Given the description of an element on the screen output the (x, y) to click on. 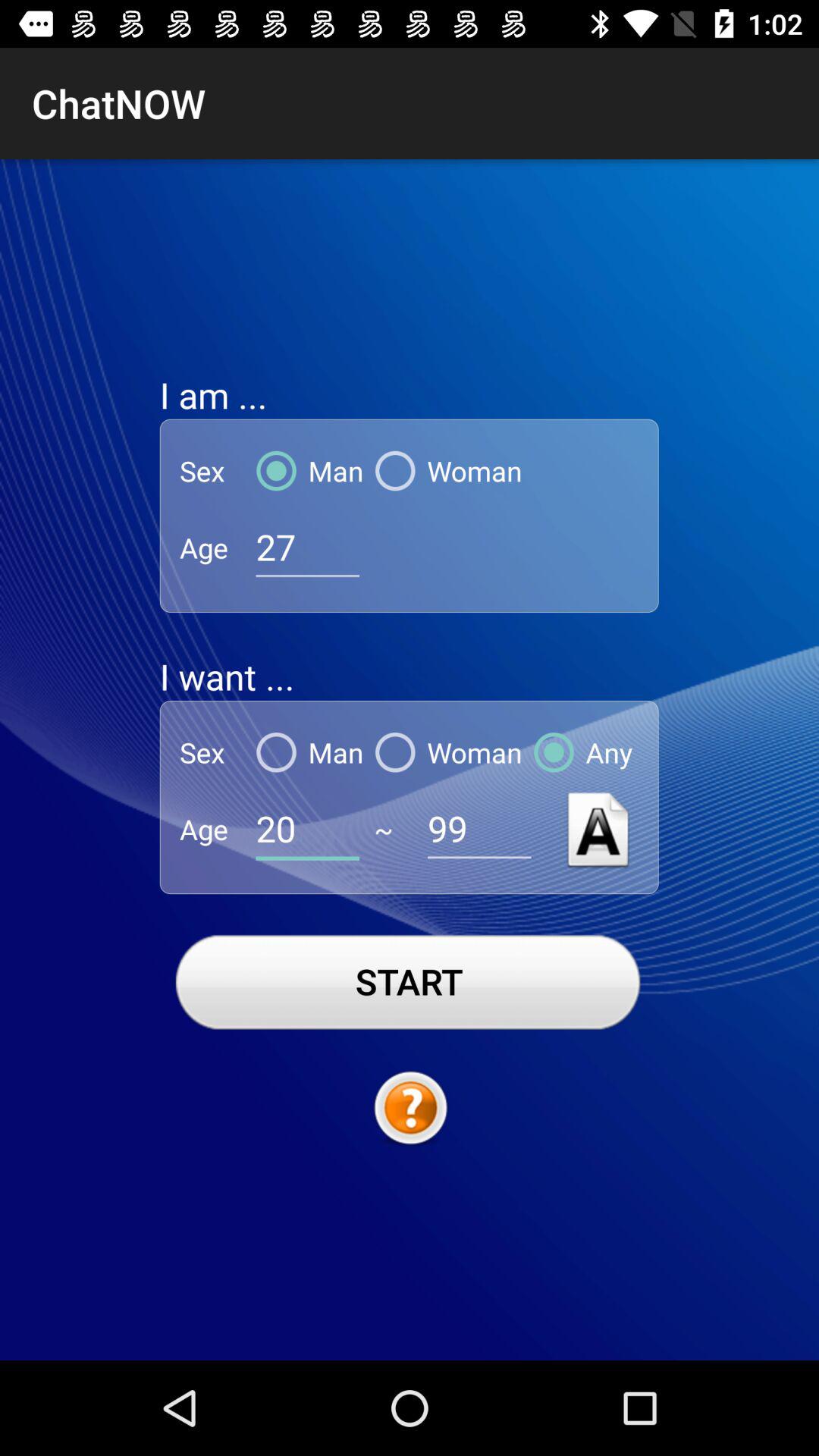
hints (409, 1108)
